Given the description of an element on the screen output the (x, y) to click on. 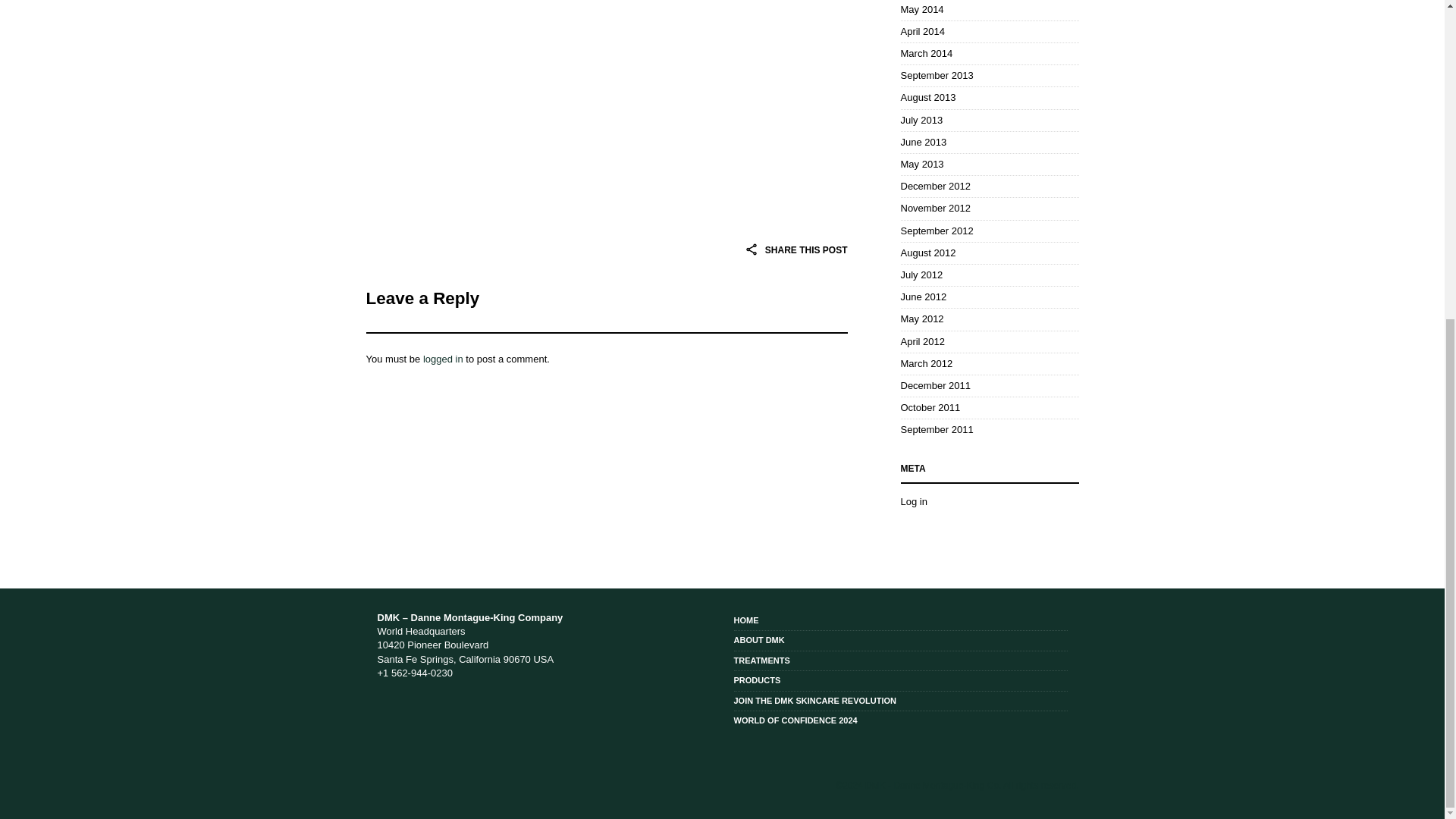
SHARE THIS POST (795, 249)
logged in (443, 358)
